Given the description of an element on the screen output the (x, y) to click on. 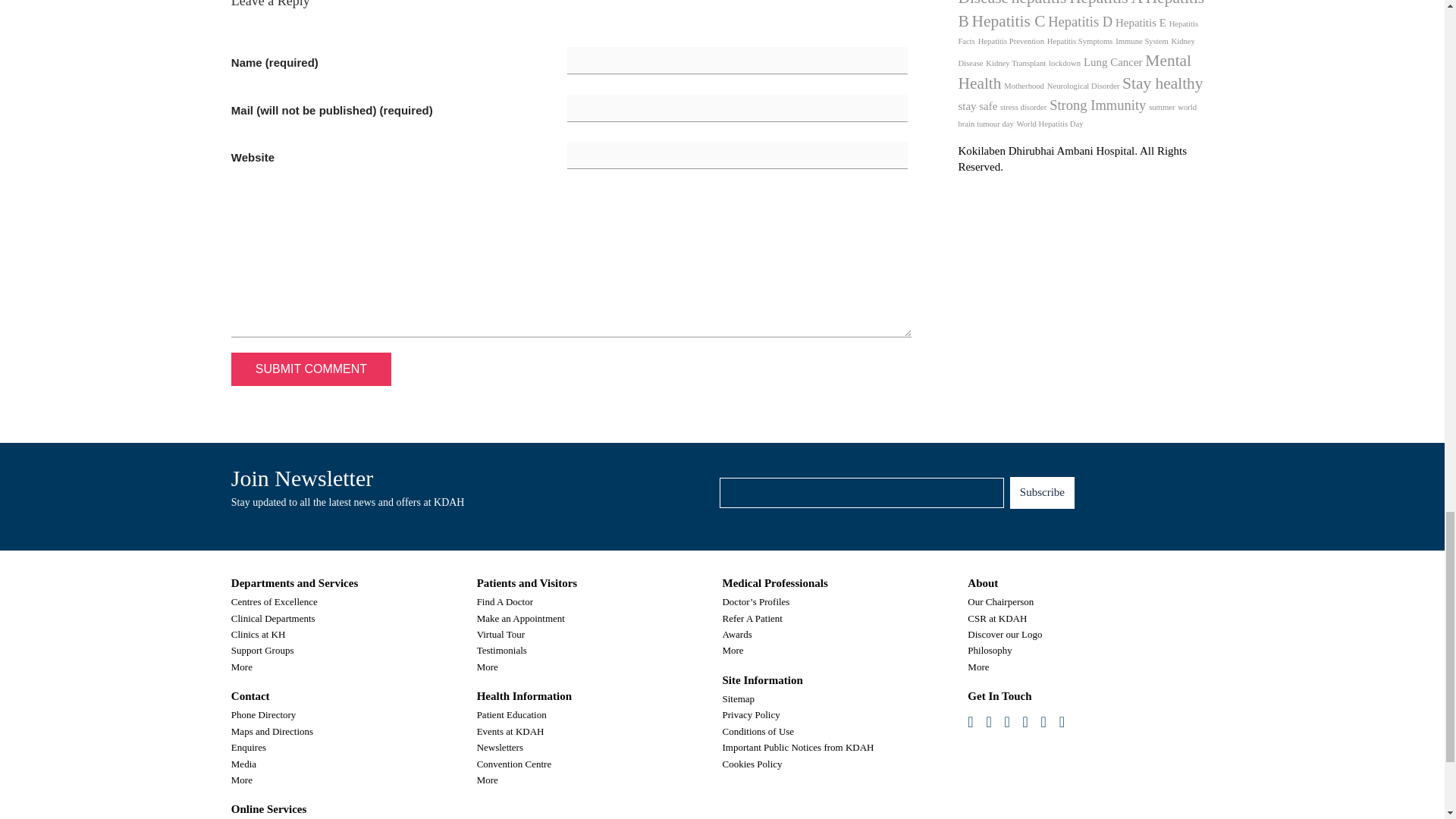
Subscribe (1042, 492)
Submit Comment (311, 368)
